Given the description of an element on the screen output the (x, y) to click on. 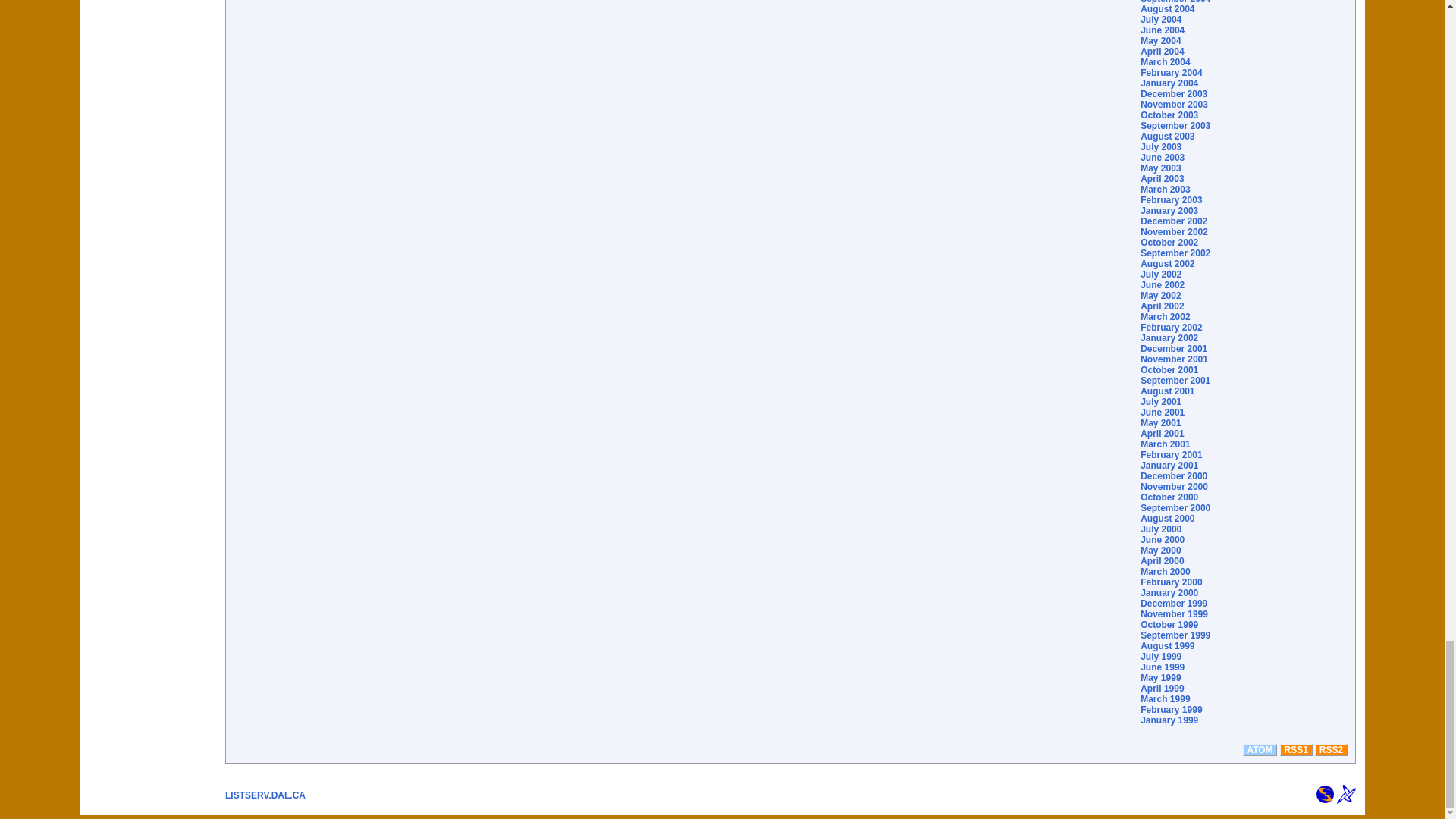
CataList Email List Search (1325, 793)
Powered by the LISTSERV Email List Manager (1345, 793)
